Given the description of an element on the screen output the (x, y) to click on. 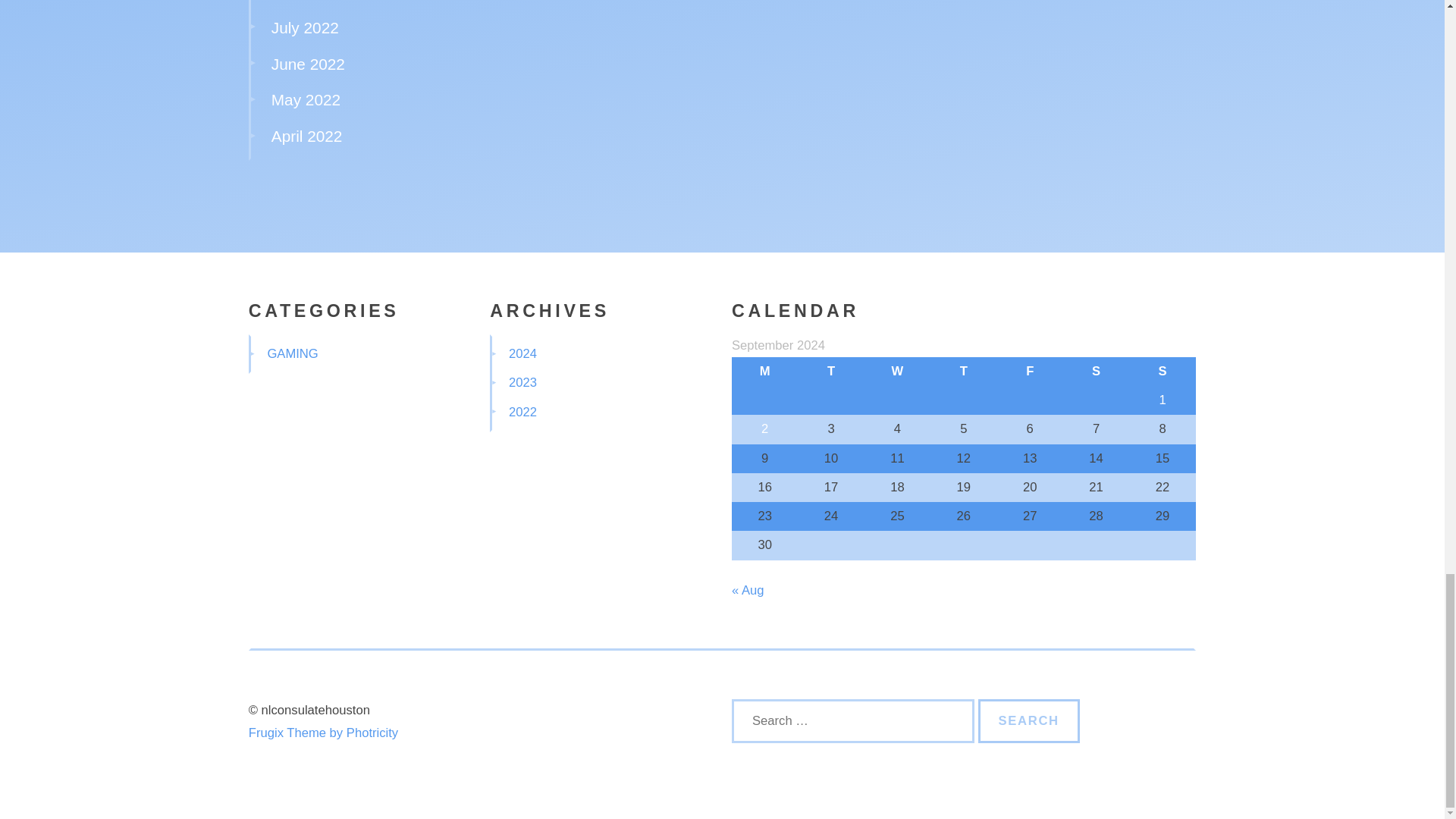
Search (1029, 720)
Tuesday (830, 371)
Saturday (1095, 371)
Search (1029, 720)
Wednesday (897, 371)
April 2022 (306, 135)
Friday (1029, 371)
Sunday (1162, 371)
May 2022 (305, 99)
Monday (764, 371)
